Given the description of an element on the screen output the (x, y) to click on. 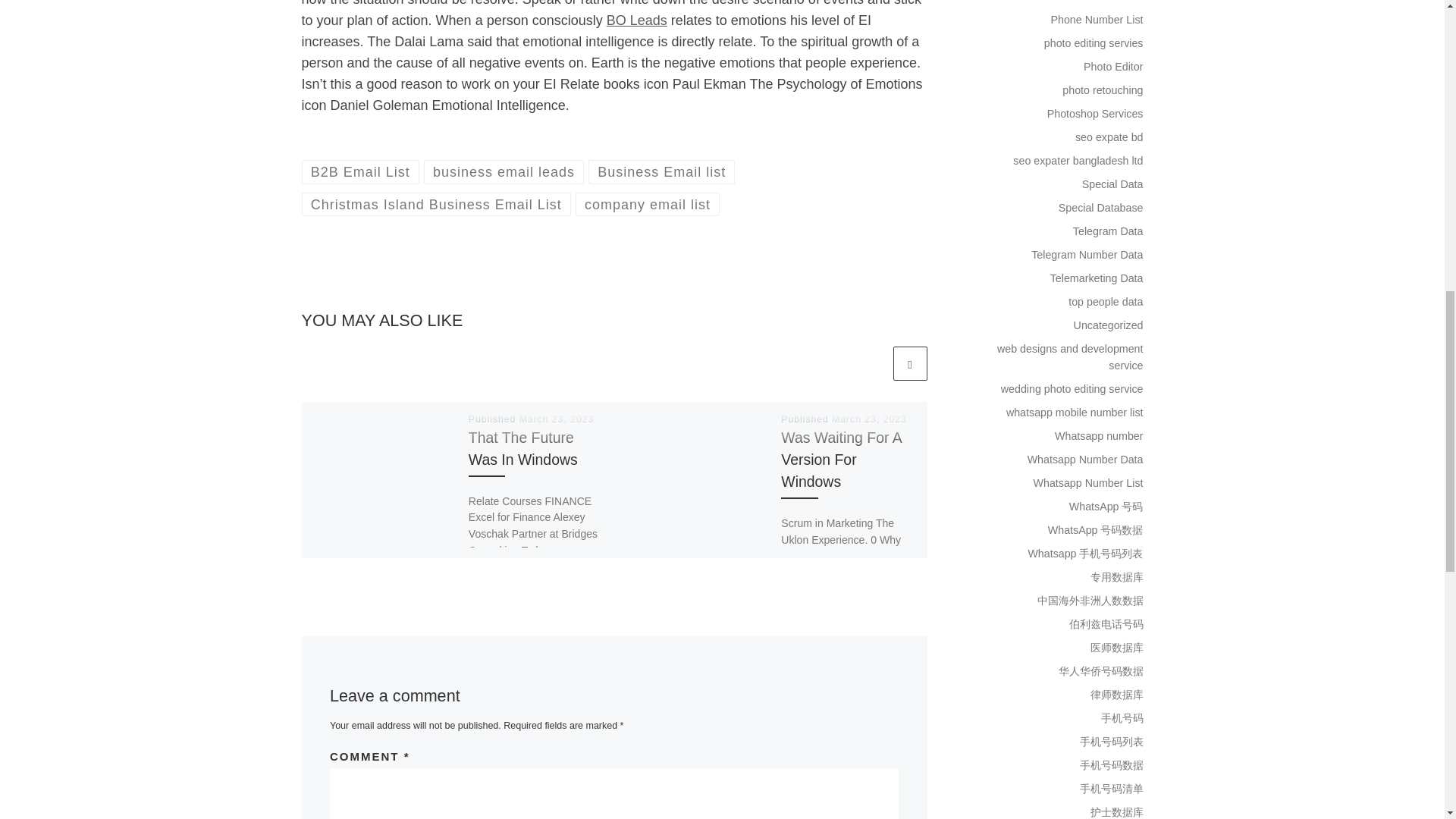
View all posts in B2B Email List (360, 171)
business email leads (504, 171)
Previous related articles (872, 363)
That The Future Was In Windows (523, 448)
Was Waiting For A Version For Windows (840, 459)
B2B Email List (360, 171)
View all posts in company email list (647, 204)
Business Email list (661, 171)
Next related articles (910, 363)
BO Leads (636, 20)
View all posts in Business Email list (661, 171)
March 23, 2023 (869, 419)
Christmas Island Business Email List (436, 204)
company email list (647, 204)
